Given the description of an element on the screen output the (x, y) to click on. 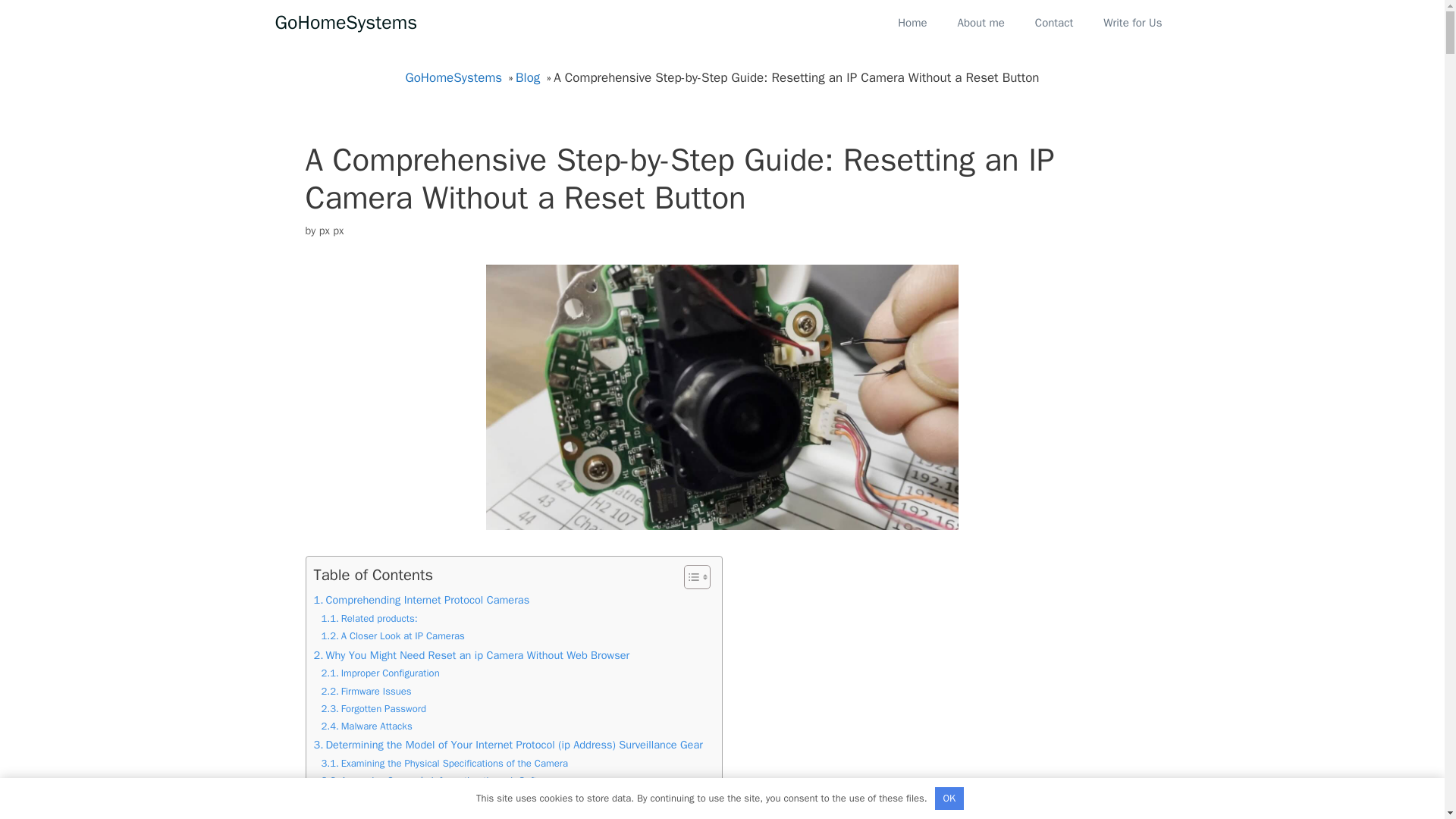
View all posts by px px (330, 229)
Examining the Physical Specifications of the Camera (444, 763)
Contact (1053, 22)
Why You Might Need Reset an ip Camera Without Web Browser (472, 655)
Why You Might Need Reset an ip Camera Without Web Browser (472, 655)
Comprehending Internet Protocol Cameras (421, 600)
A Closer Look at IP Cameras (392, 636)
Forgotten Password (373, 709)
Blog (529, 77)
Write for Us (1131, 22)
